Given the description of an element on the screen output the (x, y) to click on. 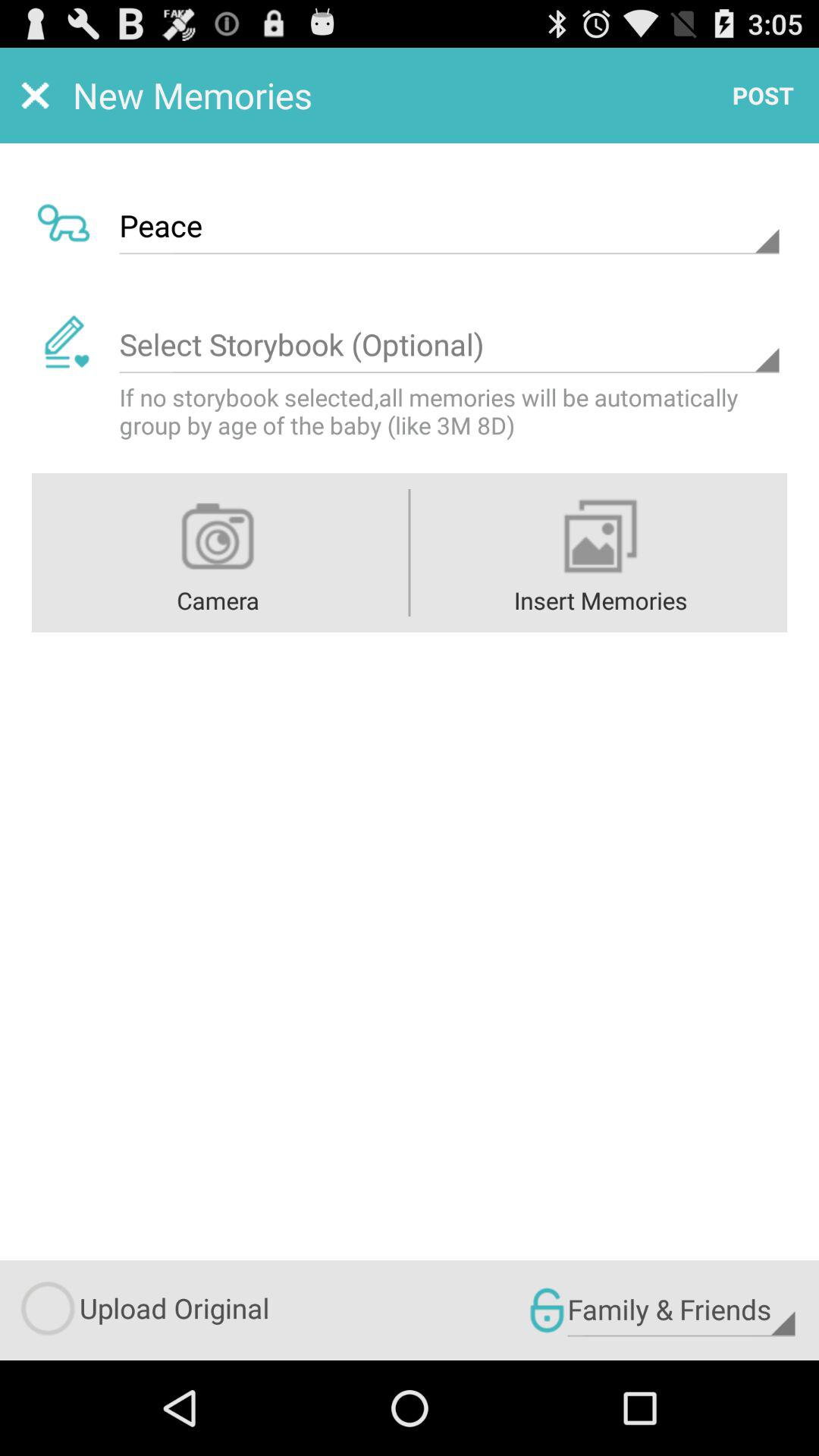
select option (449, 345)
